Given the description of an element on the screen output the (x, y) to click on. 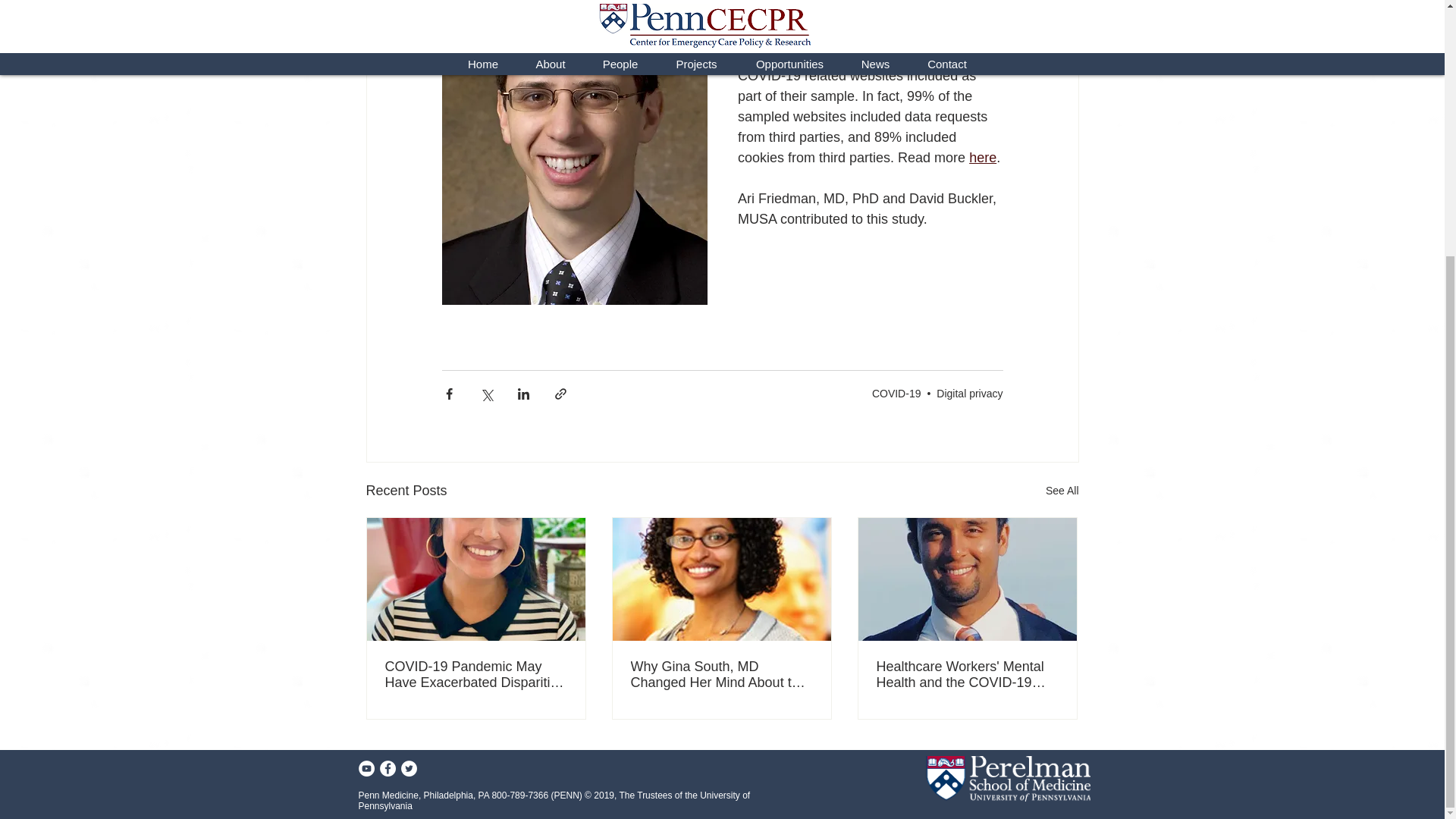
Healthcare Workers' Mental Health and the COVID-19 Pandemic (967, 675)
See All (1061, 490)
COVID-19 (896, 393)
Digital privacy (969, 393)
here (982, 157)
